Given the description of an element on the screen output the (x, y) to click on. 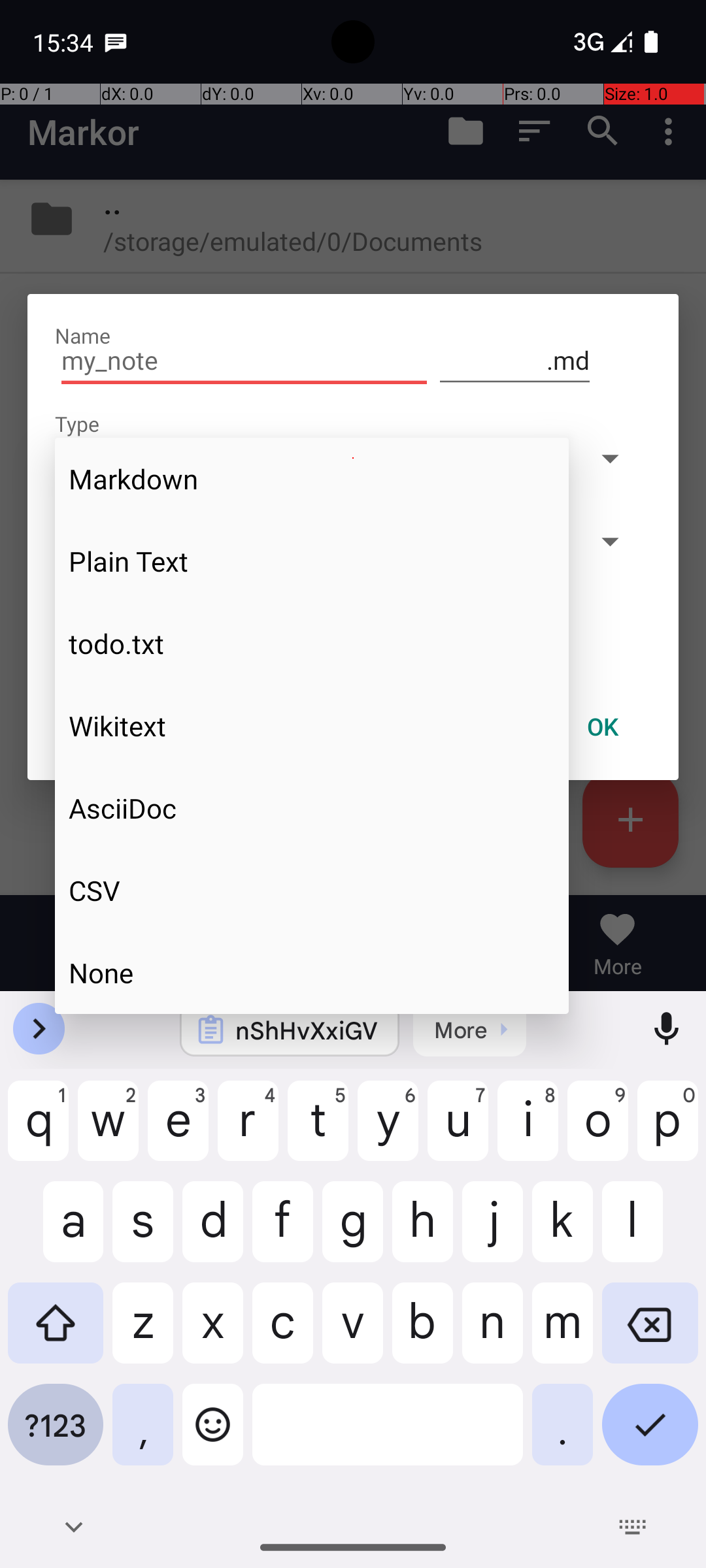
Markdown Element type: android.widget.TextView (311, 478)
Plain Text Element type: android.widget.TextView (311, 561)
todo.txt Element type: android.widget.TextView (311, 643)
Wikitext Element type: android.widget.TextView (311, 725)
AsciiDoc Element type: android.widget.TextView (311, 808)
CSV Element type: android.widget.TextView (311, 890)
None Element type: android.widget.TextView (311, 972)
